Given the description of an element on the screen output the (x, y) to click on. 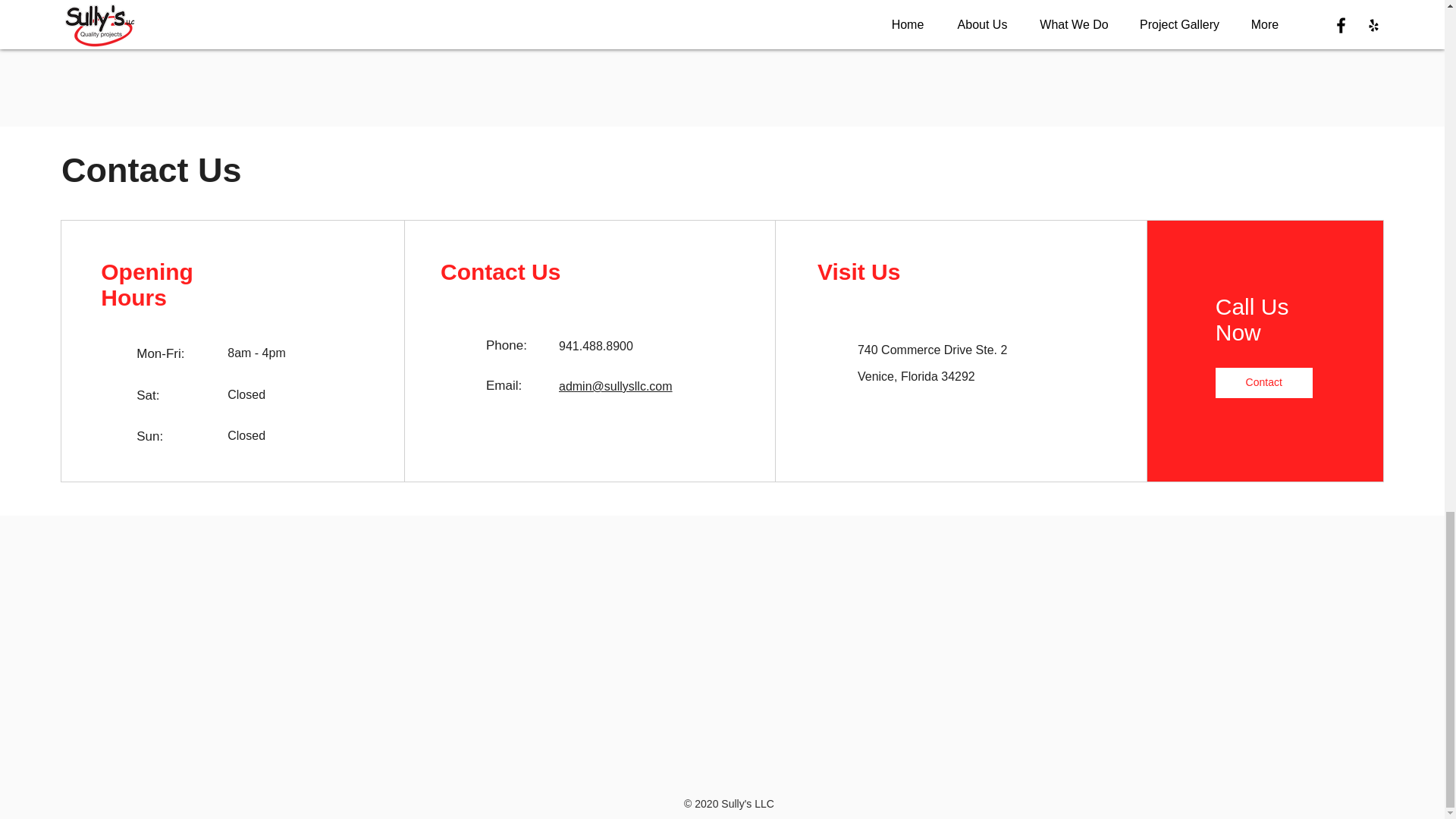
Contact (1264, 382)
